Given the description of an element on the screen output the (x, y) to click on. 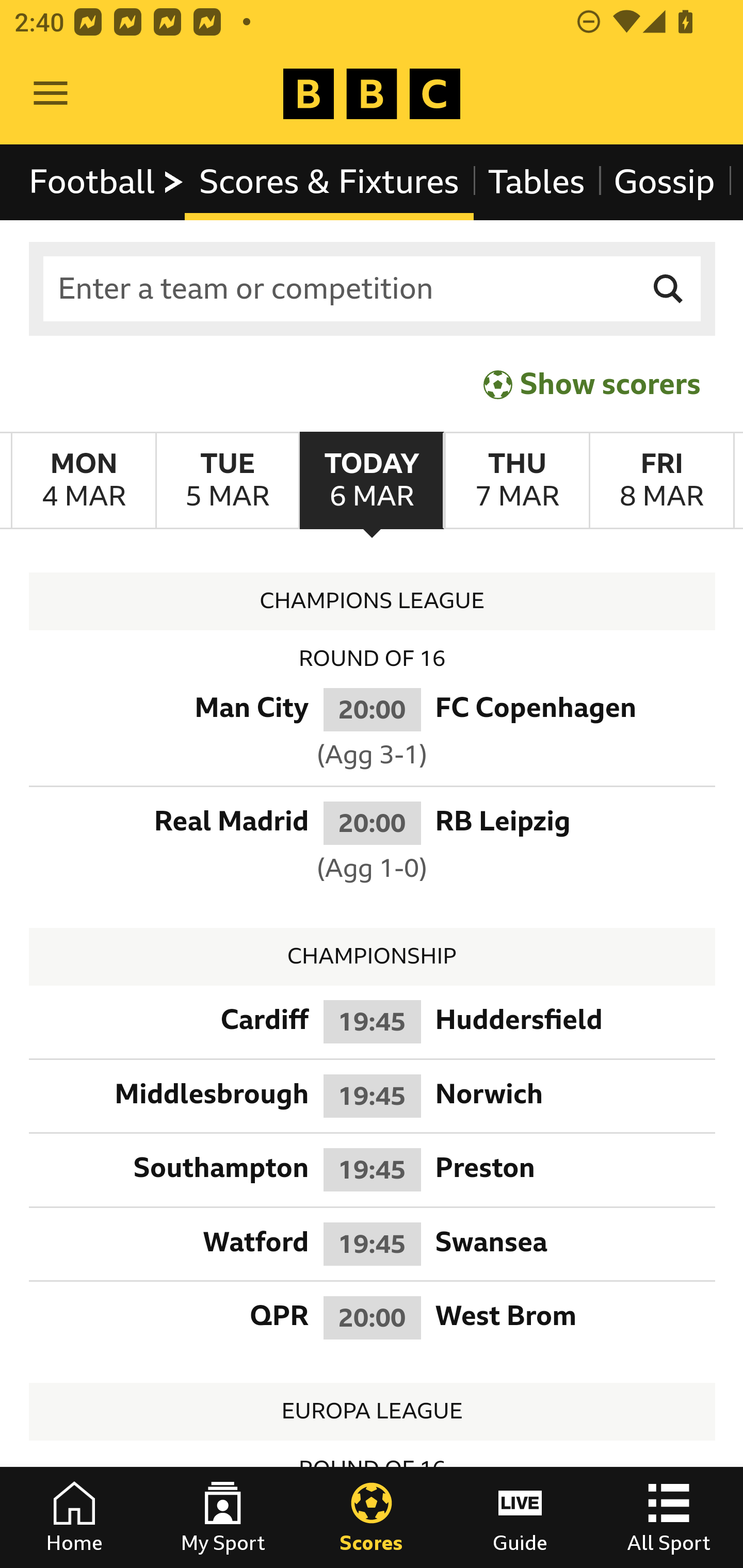
Open Menu (50, 93)
Football  (106, 181)
Scores & Fixtures (329, 181)
Tables (536, 181)
Gossip (664, 181)
Search (669, 289)
Show scorers (591, 383)
MondayMarch 4th Monday March 4th (83, 480)
TuesdayMarch 5th Tuesday March 5th (227, 480)
ThursdayMarch 7th Thursday March 7th (516, 480)
FridayMarch 8th Friday March 8th (661, 480)
Home (74, 1517)
My Sport (222, 1517)
Guide (519, 1517)
All Sport (668, 1517)
